Given the description of an element on the screen output the (x, y) to click on. 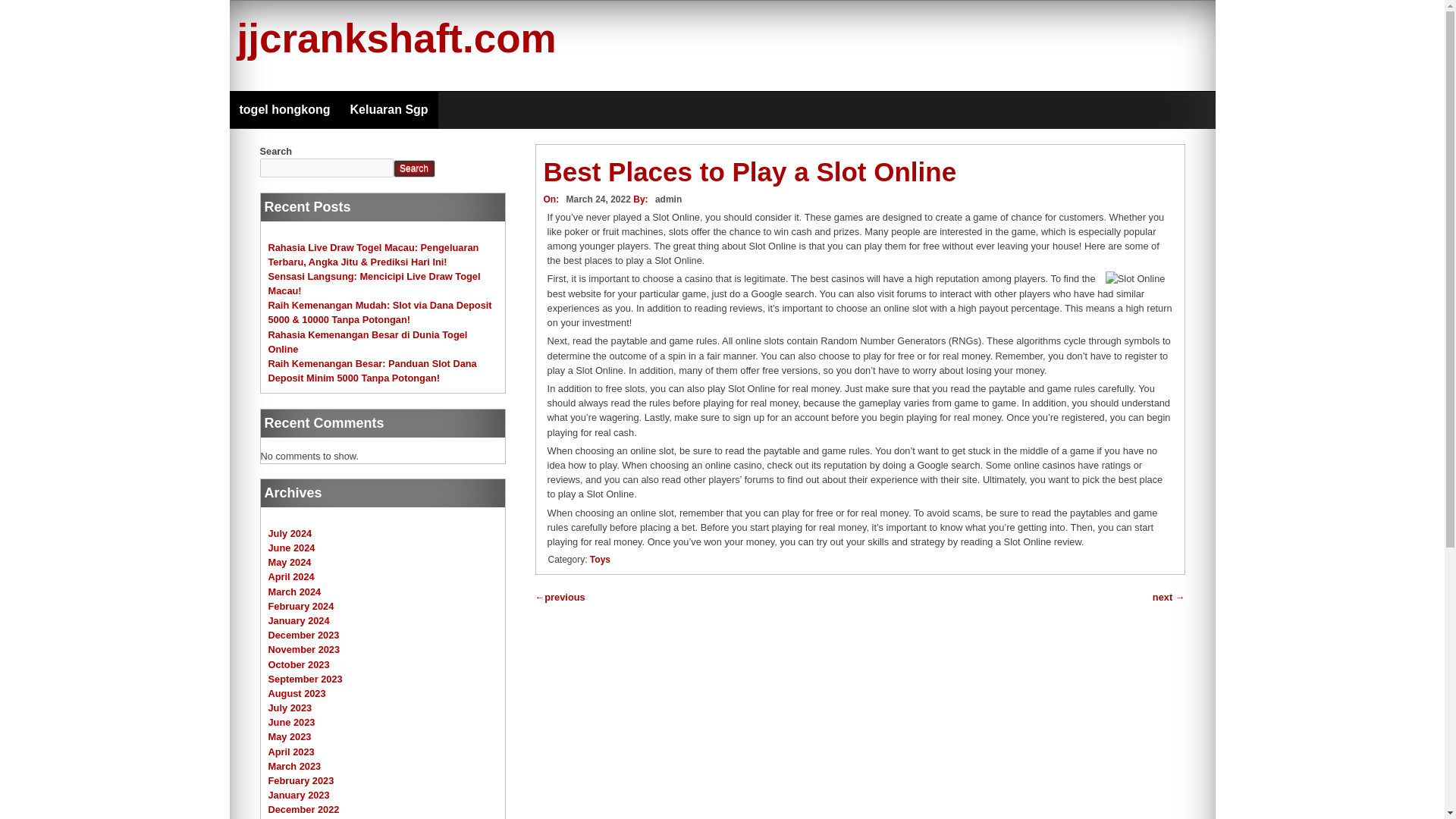
May 2024 (289, 562)
Sensasi Langsung: Mencicipi Live Draw Togel Macau! (373, 283)
October 2023 (298, 663)
April 2024 (290, 576)
June 2023 (291, 722)
March 2024 (294, 591)
June 2024 (291, 547)
jjcrankshaft.com (395, 37)
March 24, 2022 (595, 198)
Keluaran Sgp (388, 109)
December 2022 (303, 808)
togel hongkong (283, 109)
November 2023 (303, 649)
admin (668, 199)
